Given the description of an element on the screen output the (x, y) to click on. 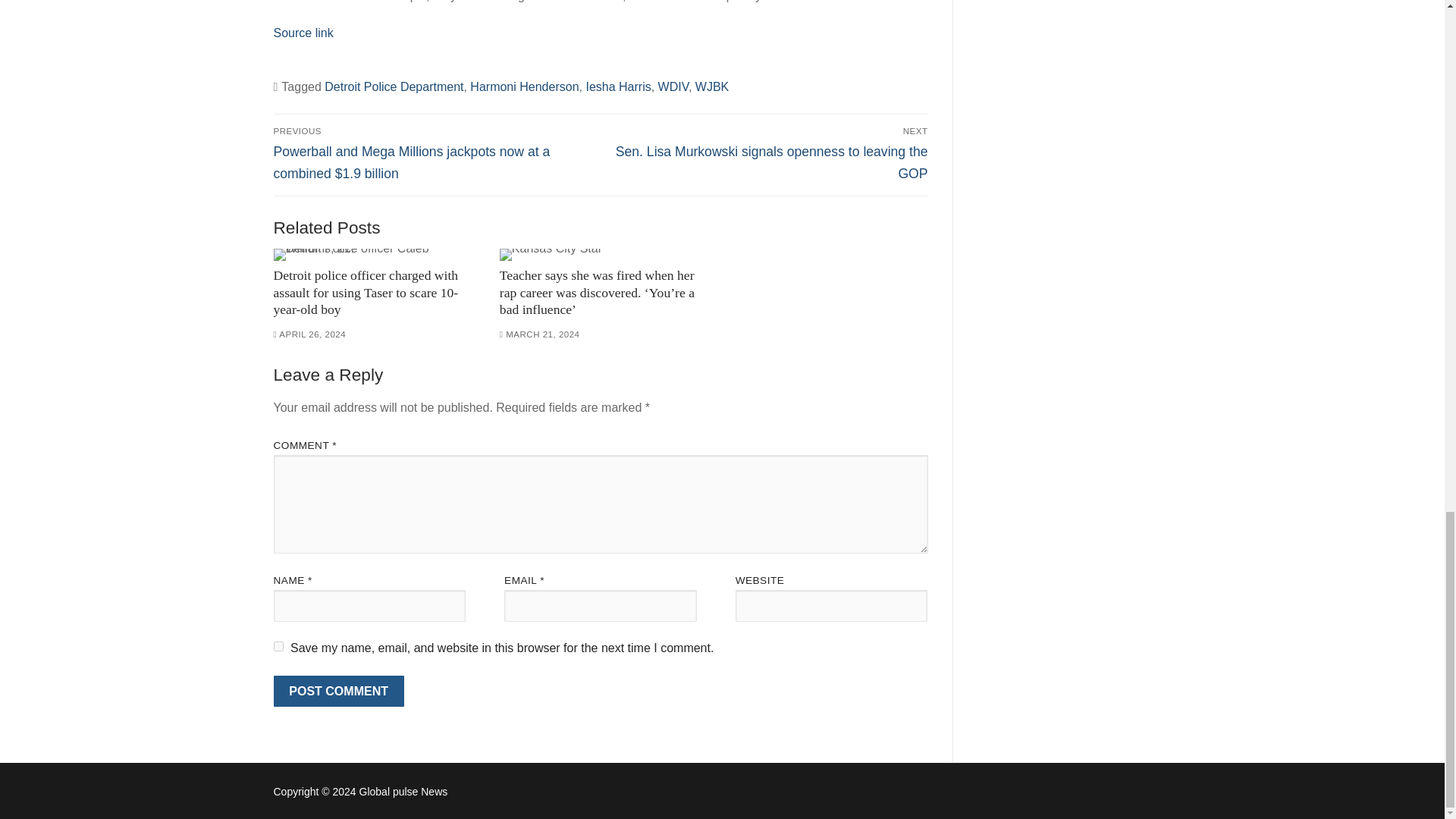
Detroit Police Department (393, 86)
yes (277, 646)
Harmoni Henderson (524, 86)
Post Comment (338, 691)
WDIV (673, 86)
Source link (303, 32)
Iesha Harris (617, 86)
WJBK (712, 86)
